Given the description of an element on the screen output the (x, y) to click on. 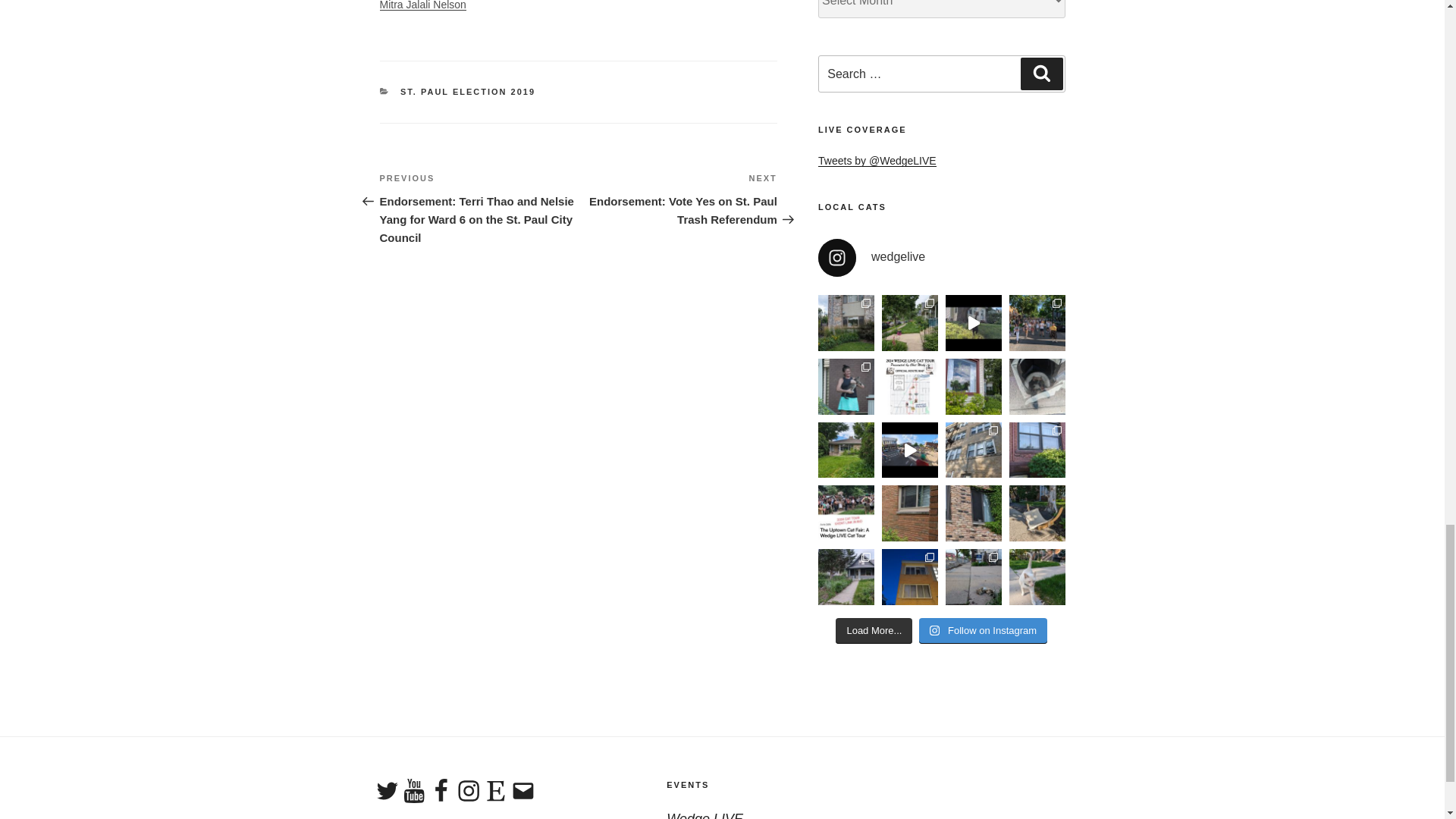
Search (1041, 73)
ST. PAUL ELECTION 2019 (467, 91)
